Given the description of an element on the screen output the (x, y) to click on. 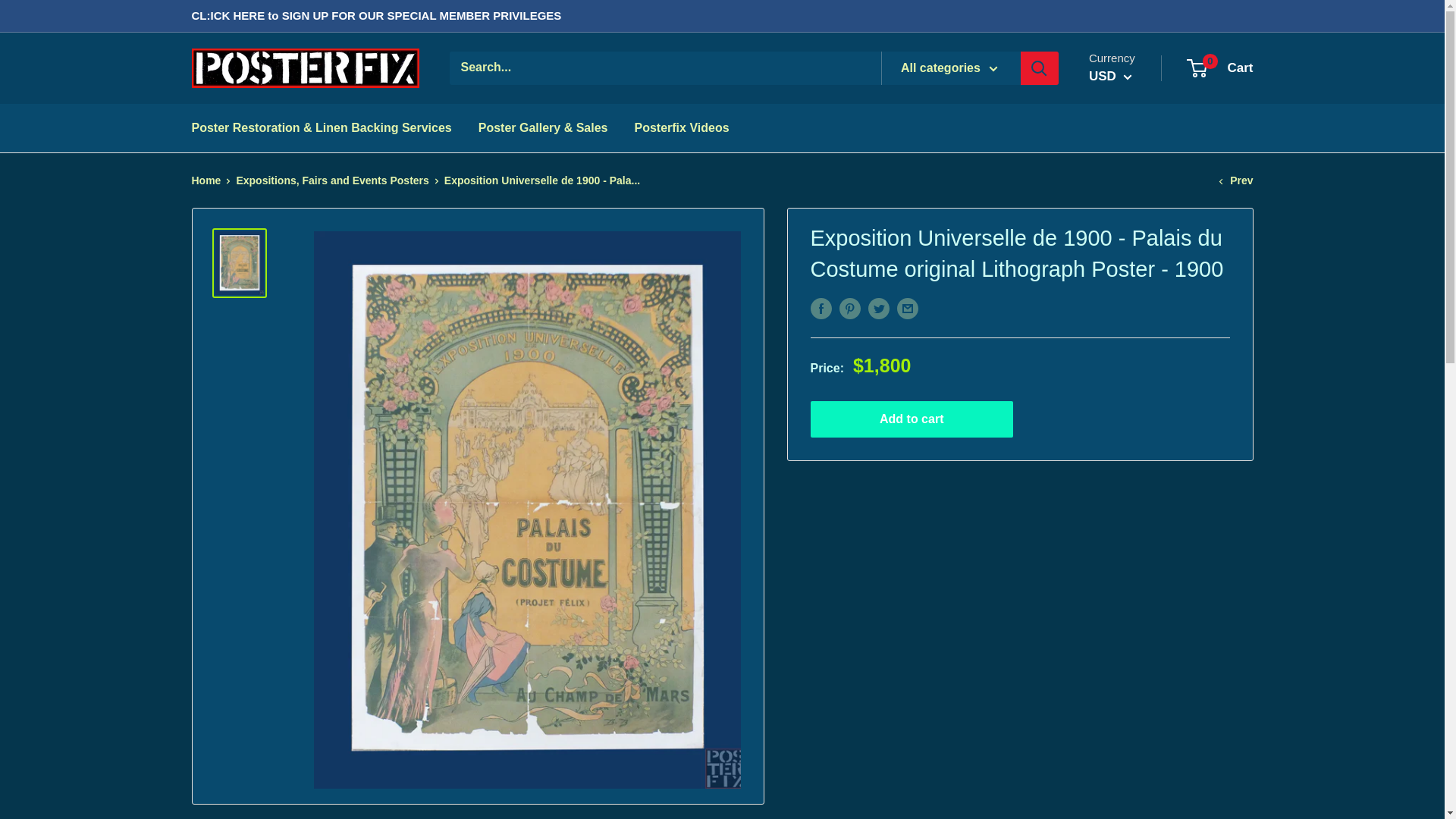
Add to cart (911, 419)
Home (1220, 68)
Prev (205, 180)
Expositions, Fairs and Events Posters (1235, 180)
Posterfix Videos (331, 180)
CL:ICK HERE to SIGN UP FOR OUR SPECIAL MEMBER PRIVILEGES (681, 128)
USD (375, 15)
